Given the description of an element on the screen output the (x, y) to click on. 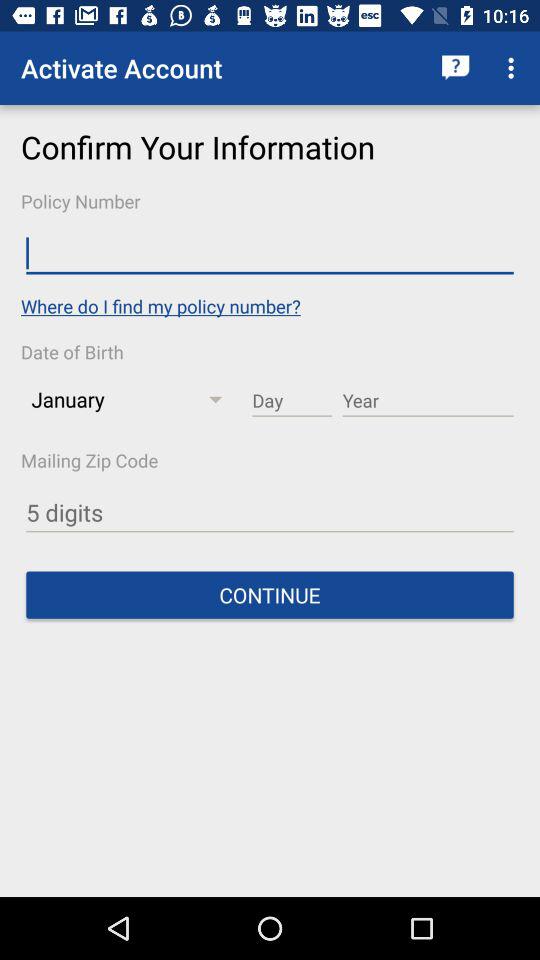
enter birth year (428, 401)
